Given the description of an element on the screen output the (x, y) to click on. 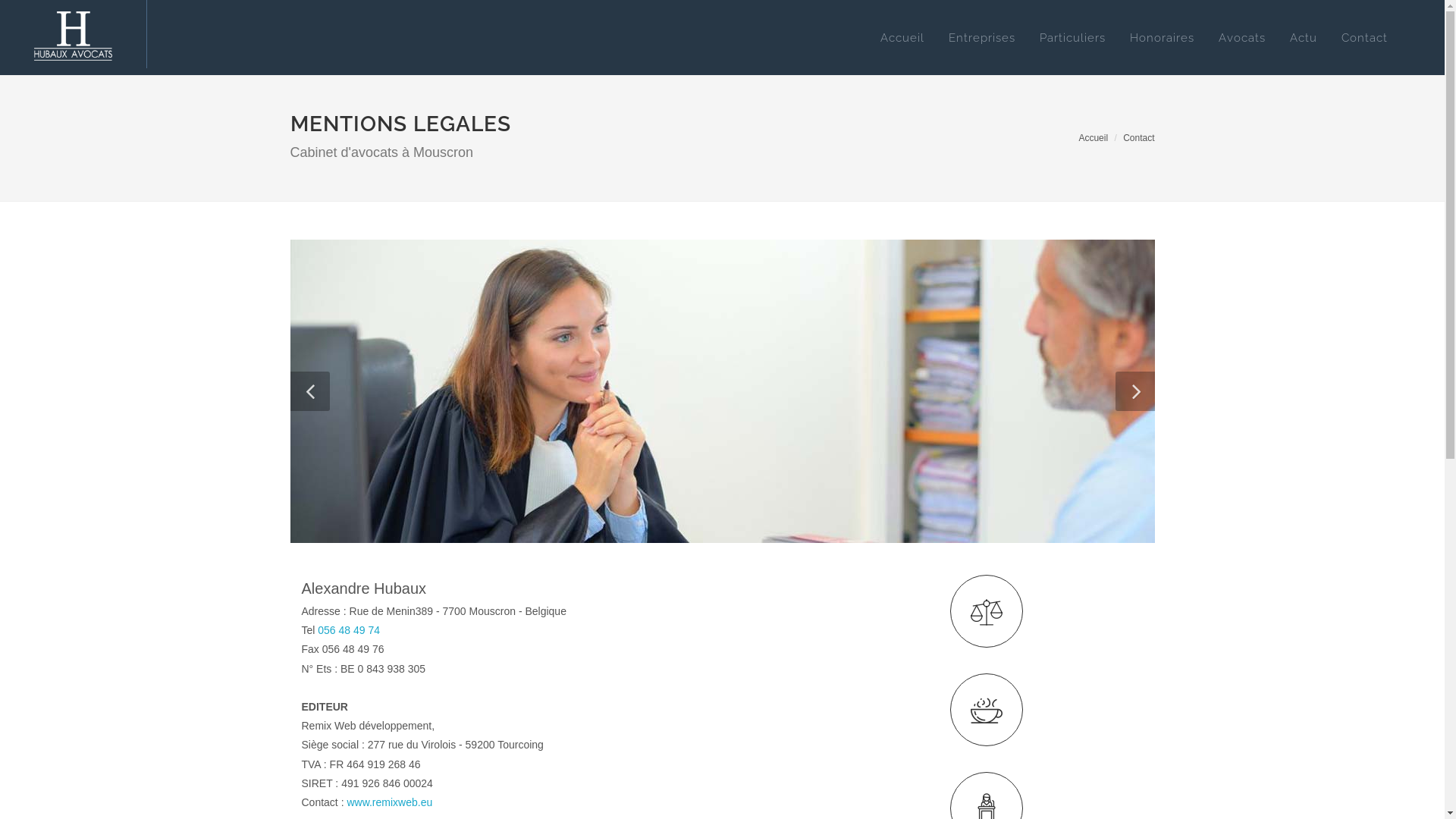
Contact Element type: text (1364, 37)
Honoraires Element type: text (1161, 37)
Particuliers Element type: text (1072, 37)
Accueil Element type: hover (72, 34)
Actu Element type: text (1303, 37)
Contact Element type: text (1138, 136)
056 48 49 74 Element type: text (348, 630)
Entreprises Element type: text (981, 37)
Avocats Element type: text (1242, 37)
Accueil Element type: text (902, 37)
Accueil Element type: text (1092, 136)
www.remixweb.eu Element type: text (389, 802)
